Given the description of an element on the screen output the (x, y) to click on. 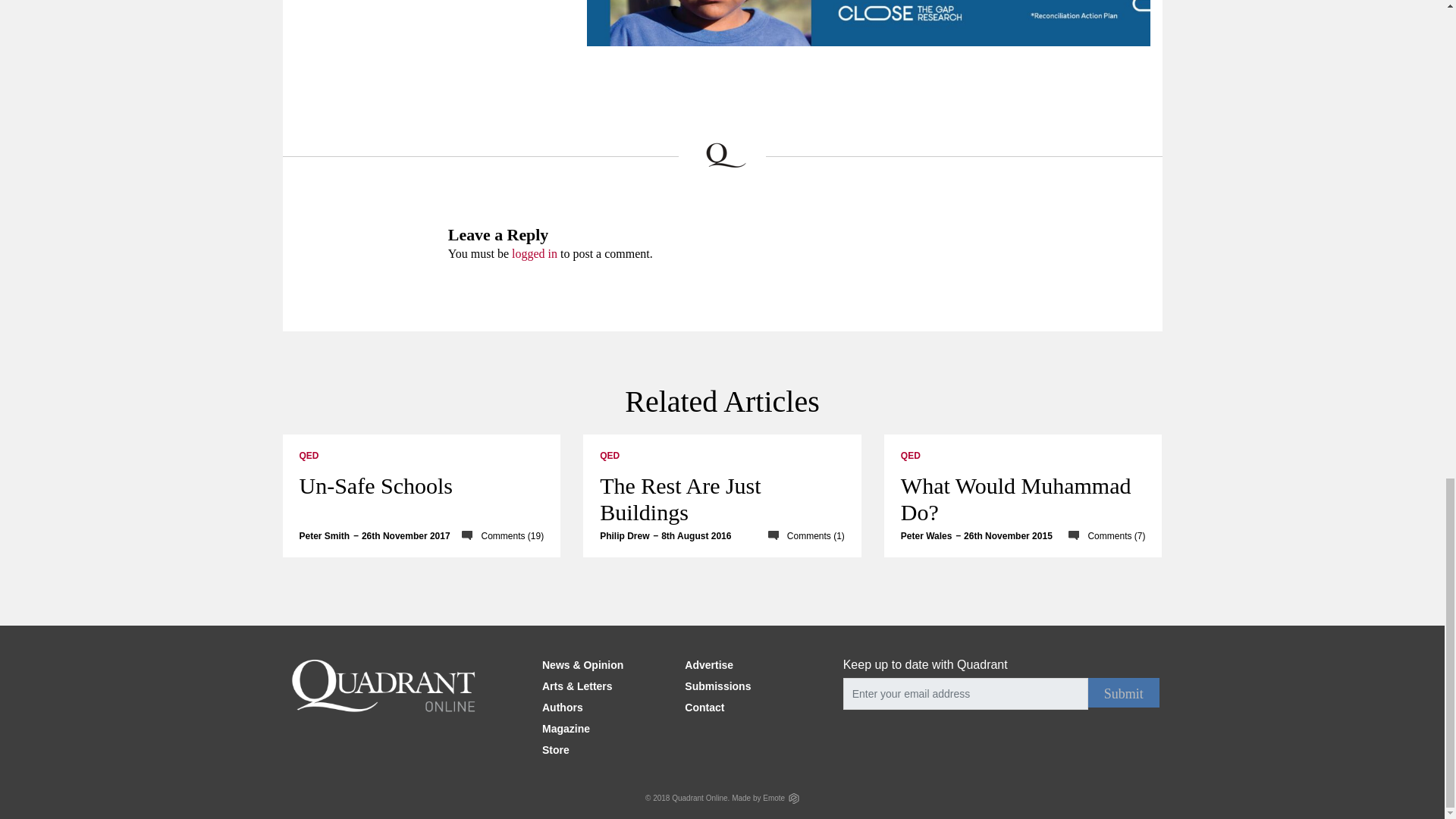
Submit (1122, 692)
